Given the description of an element on the screen output the (x, y) to click on. 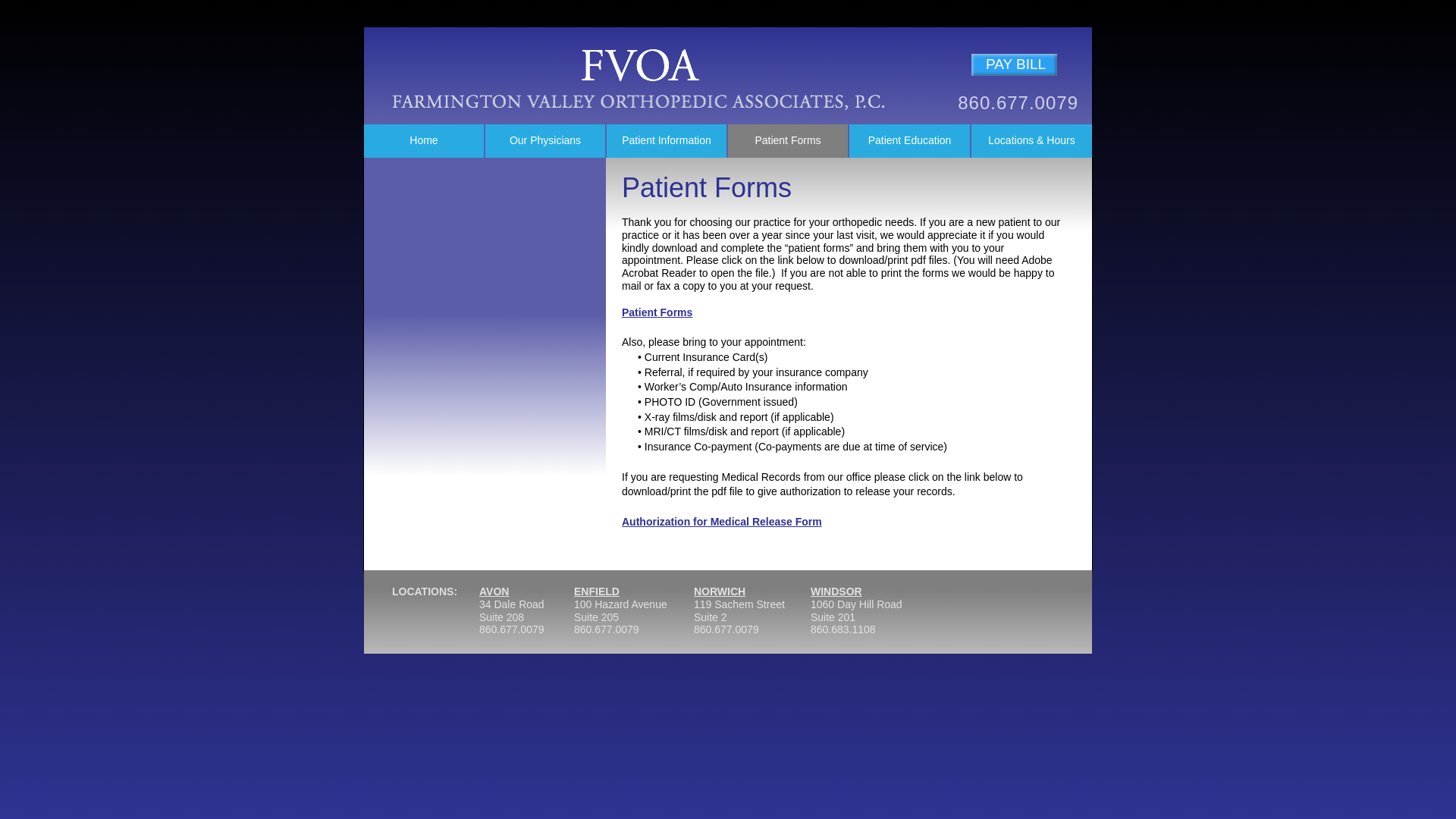
WINDSOR (835, 591)
LOCATIONS: (427, 614)
ENFIELD (596, 591)
Patient Forms (657, 312)
Patient Information (666, 141)
Patient Education (908, 141)
Our Physicians (544, 141)
AVON (493, 591)
Authorization for Medical Release Form (721, 521)
Home (423, 141)
